Given the description of an element on the screen output the (x, y) to click on. 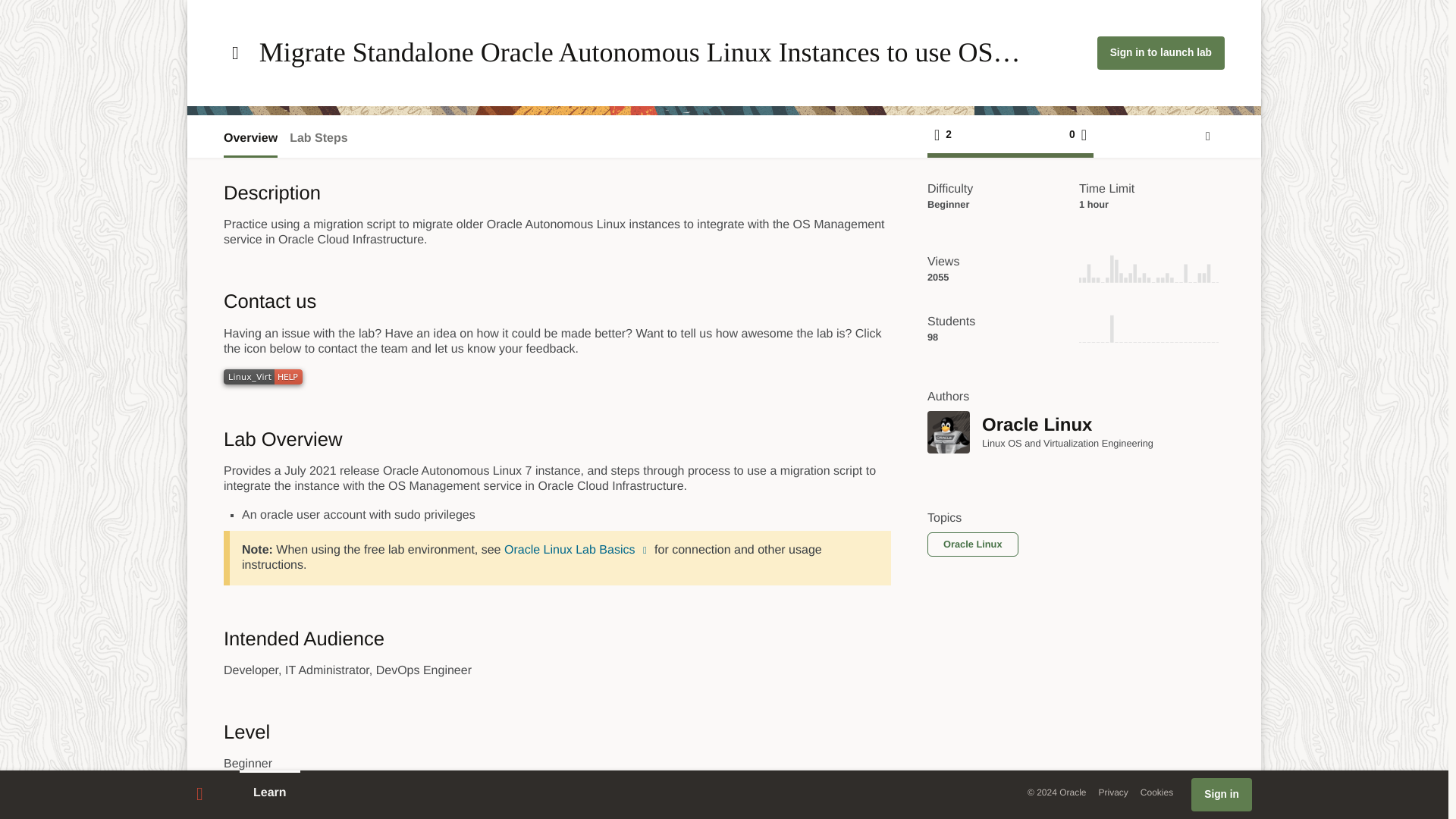
Learn (269, 793)
Send lab feedback (1207, 136)
Privacy (1113, 792)
2 (945, 134)
Lab Steps (318, 138)
Oracle Linux (948, 432)
0 (1075, 134)
Send lab feedback (1207, 136)
Oracle Linux Lab Basics (576, 549)
Cookies (1156, 792)
Sign in (1221, 794)
Sign in to launch lab (1160, 52)
Overview (251, 138)
